Given the description of an element on the screen output the (x, y) to click on. 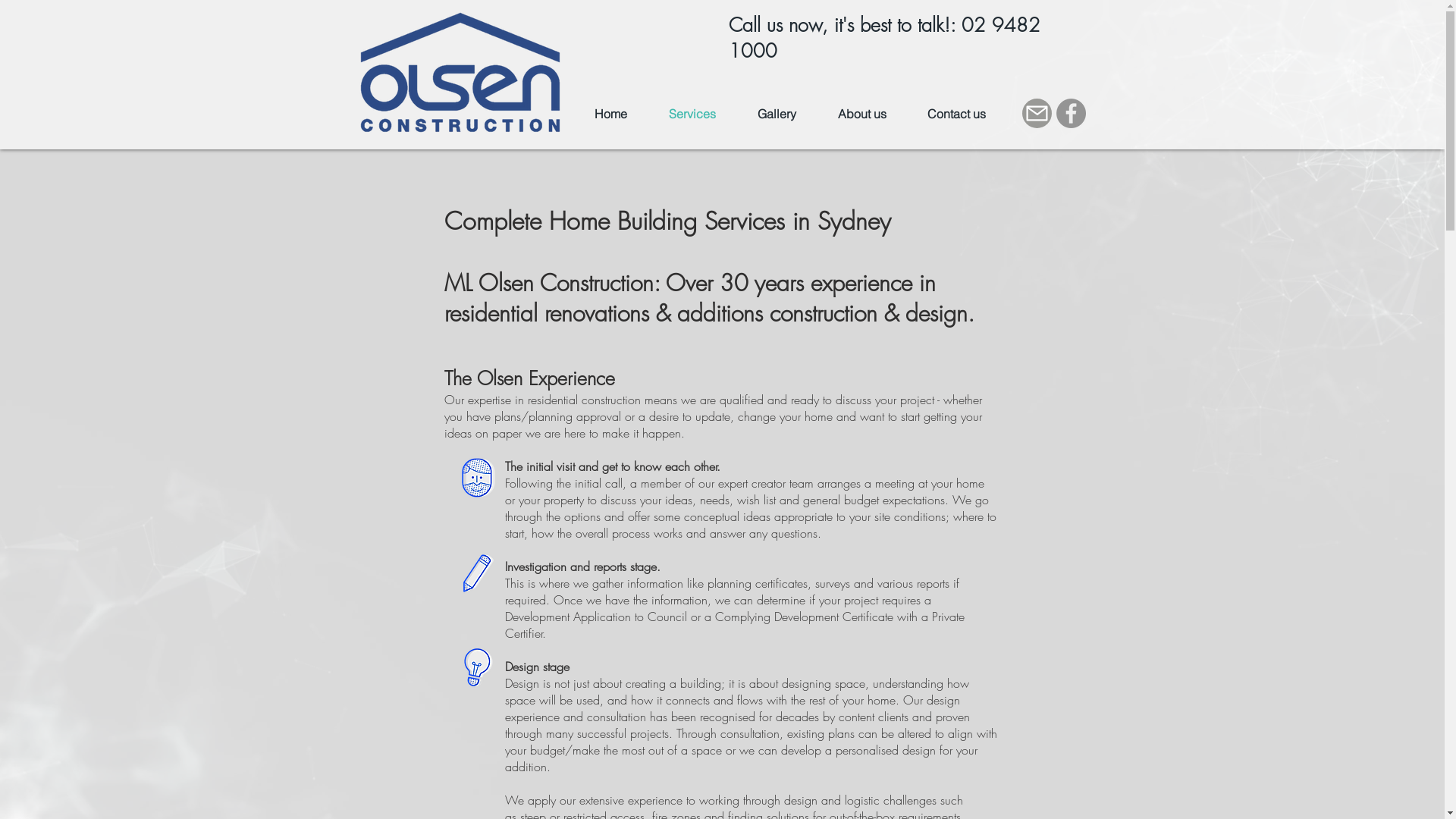
About us Element type: text (861, 113)
Home Element type: text (610, 113)
Contact us Element type: text (956, 113)
Services Element type: text (691, 113)
02 9482 1000 Element type: text (883, 37)
Gallery Element type: text (777, 113)
